Given the description of an element on the screen output the (x, y) to click on. 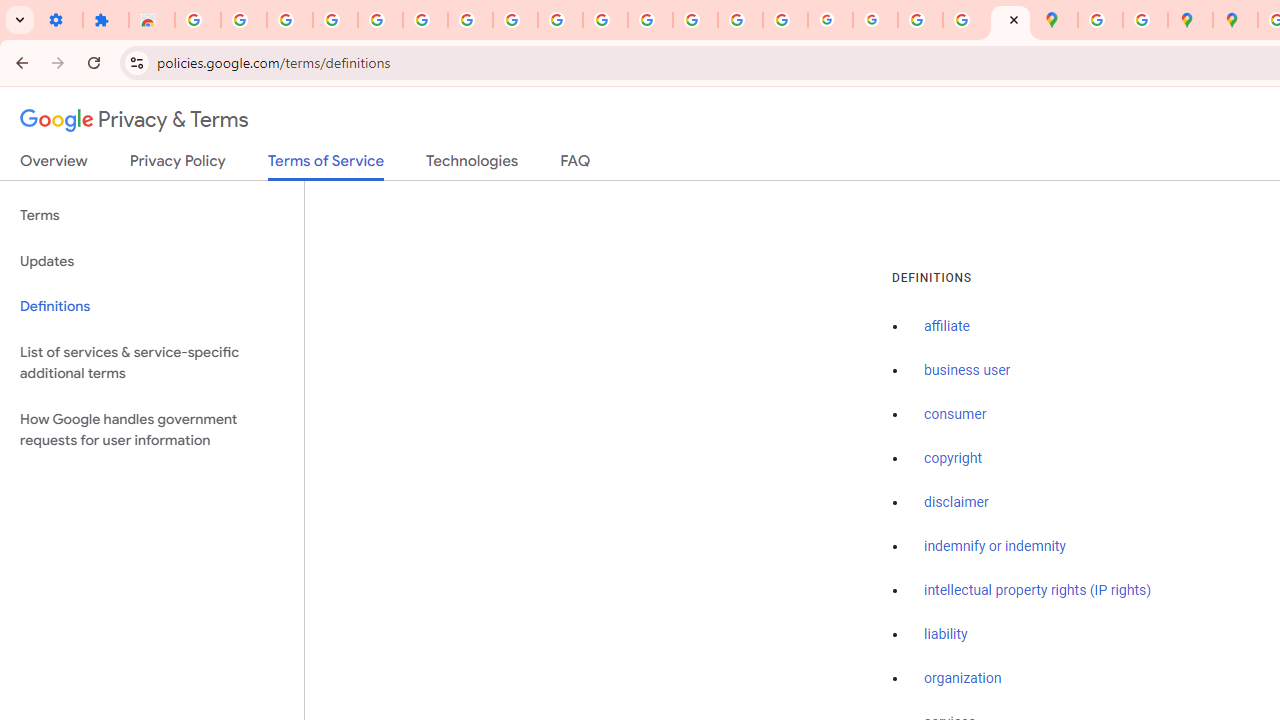
https://scholar.google.com/ (650, 20)
Sign in - Google Accounts (425, 20)
affiliate (947, 327)
Settings - On startup (60, 20)
Reviews: Helix Fruit Jump Arcade Game (152, 20)
consumer (955, 415)
organization (963, 679)
disclaimer (956, 502)
